Given the description of an element on the screen output the (x, y) to click on. 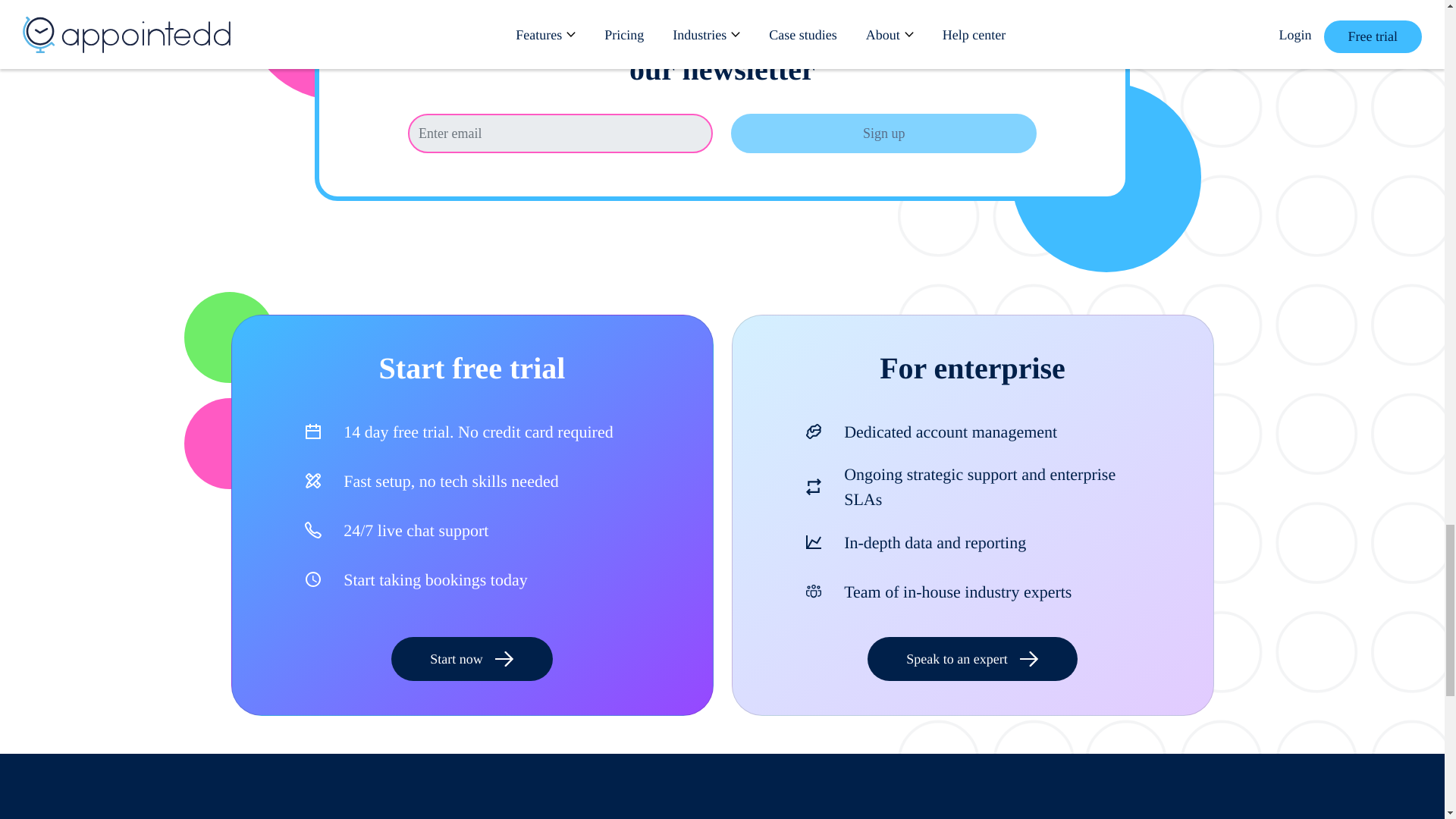
Speak to an expert (972, 658)
Sign up (882, 133)
Start now (472, 658)
